Given the description of an element on the screen output the (x, y) to click on. 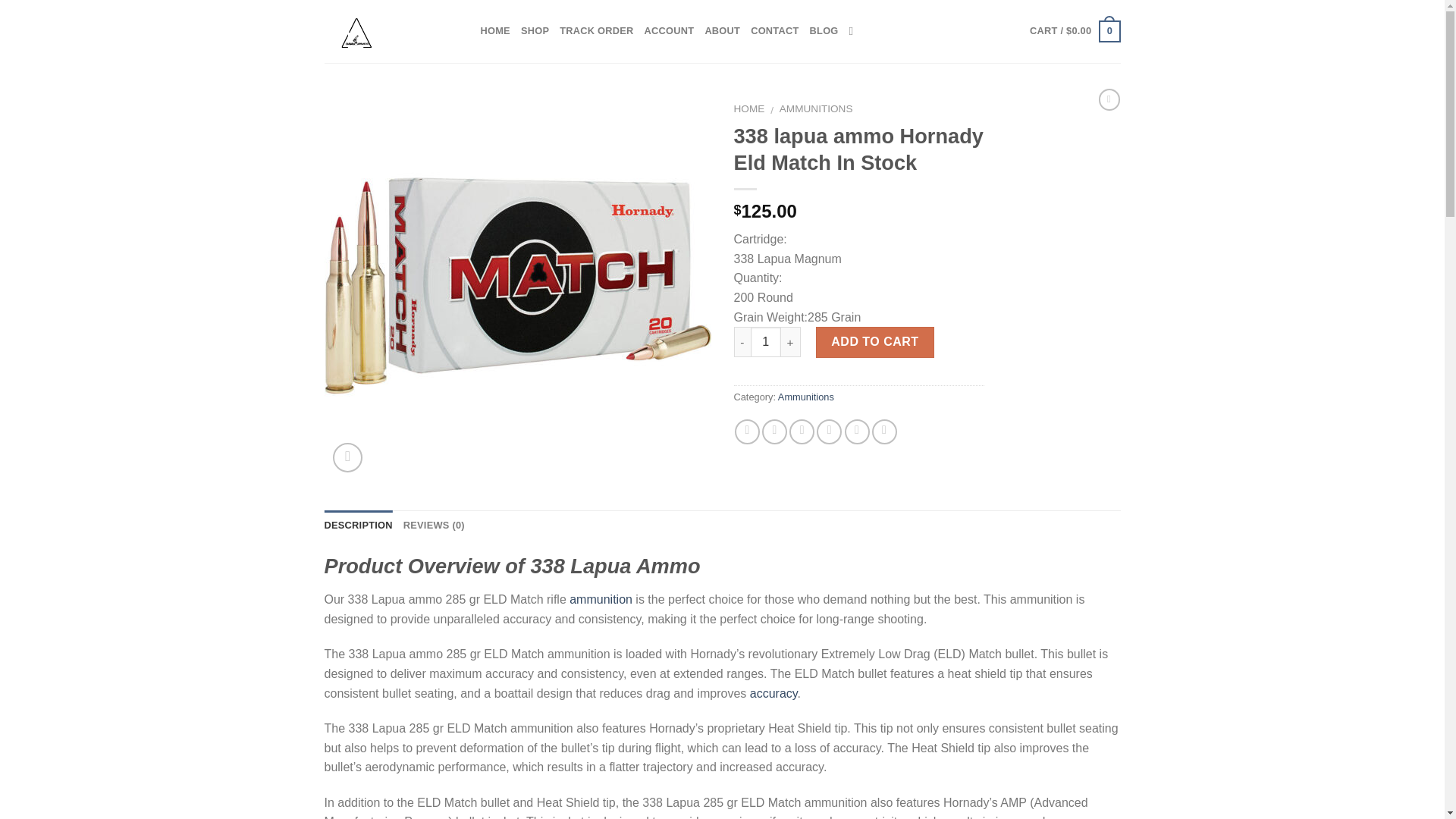
Email to a Friend (801, 431)
Qty (765, 341)
ADD TO CART (874, 341)
ABOUT (721, 30)
1 (765, 341)
Pin on Pinterest (828, 431)
ammunition (600, 599)
HOME (749, 108)
accuracy (773, 693)
AMMUNITIONS (815, 108)
TRACK ORDER (596, 30)
Share on Twitter (774, 431)
Cart (1074, 31)
ACCOUNT (669, 30)
